Given the description of an element on the screen output the (x, y) to click on. 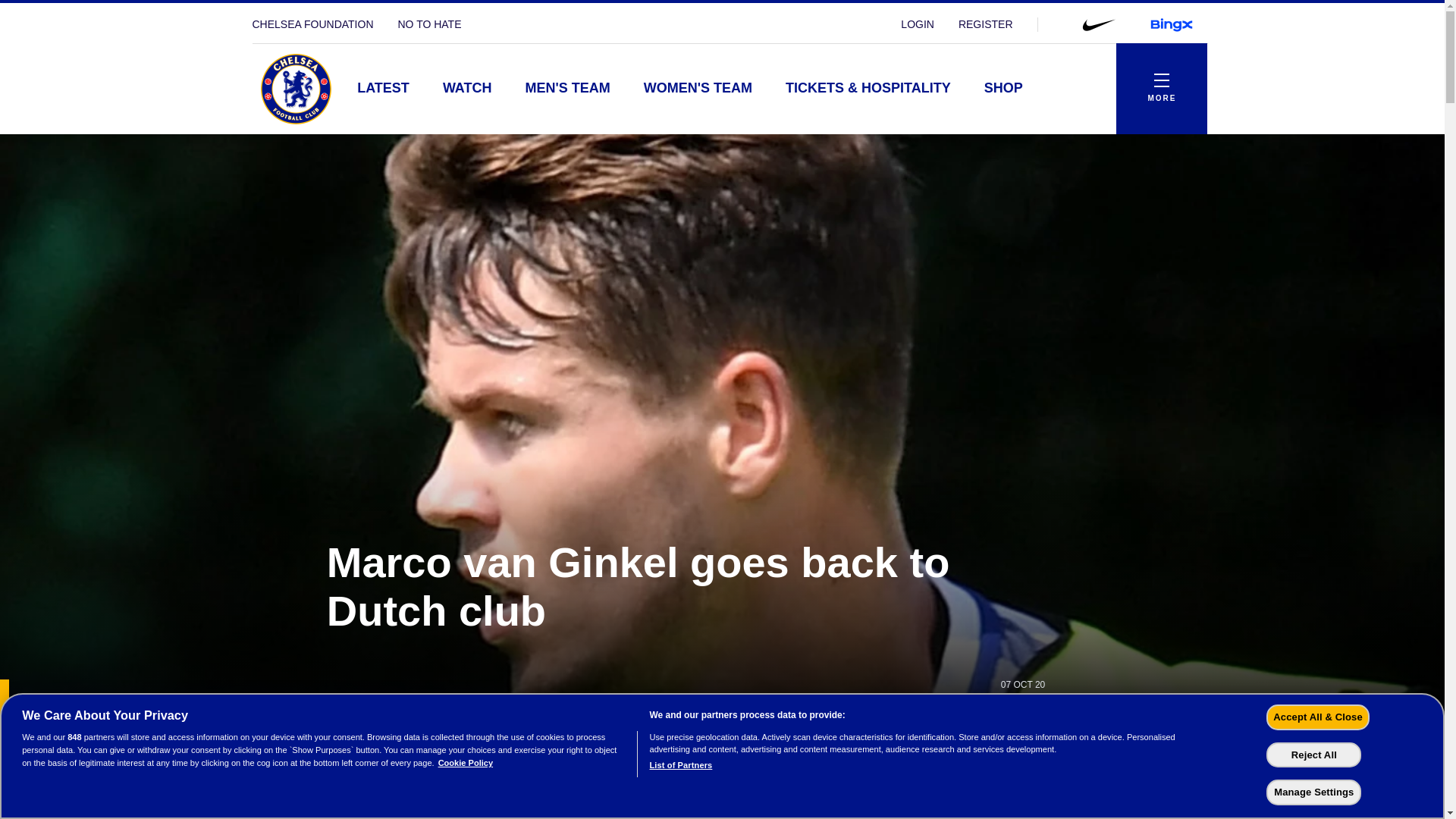
REGISTER (985, 23)
CHELSEA FOUNDATION (311, 24)
LOGIN (917, 23)
WOMEN'S TEAM (697, 88)
Bingx (1170, 24)
LATEST (383, 88)
facebook (1121, 731)
Nike (1097, 24)
MEN'S TEAM (567, 88)
twitter (1159, 731)
